Given the description of an element on the screen output the (x, y) to click on. 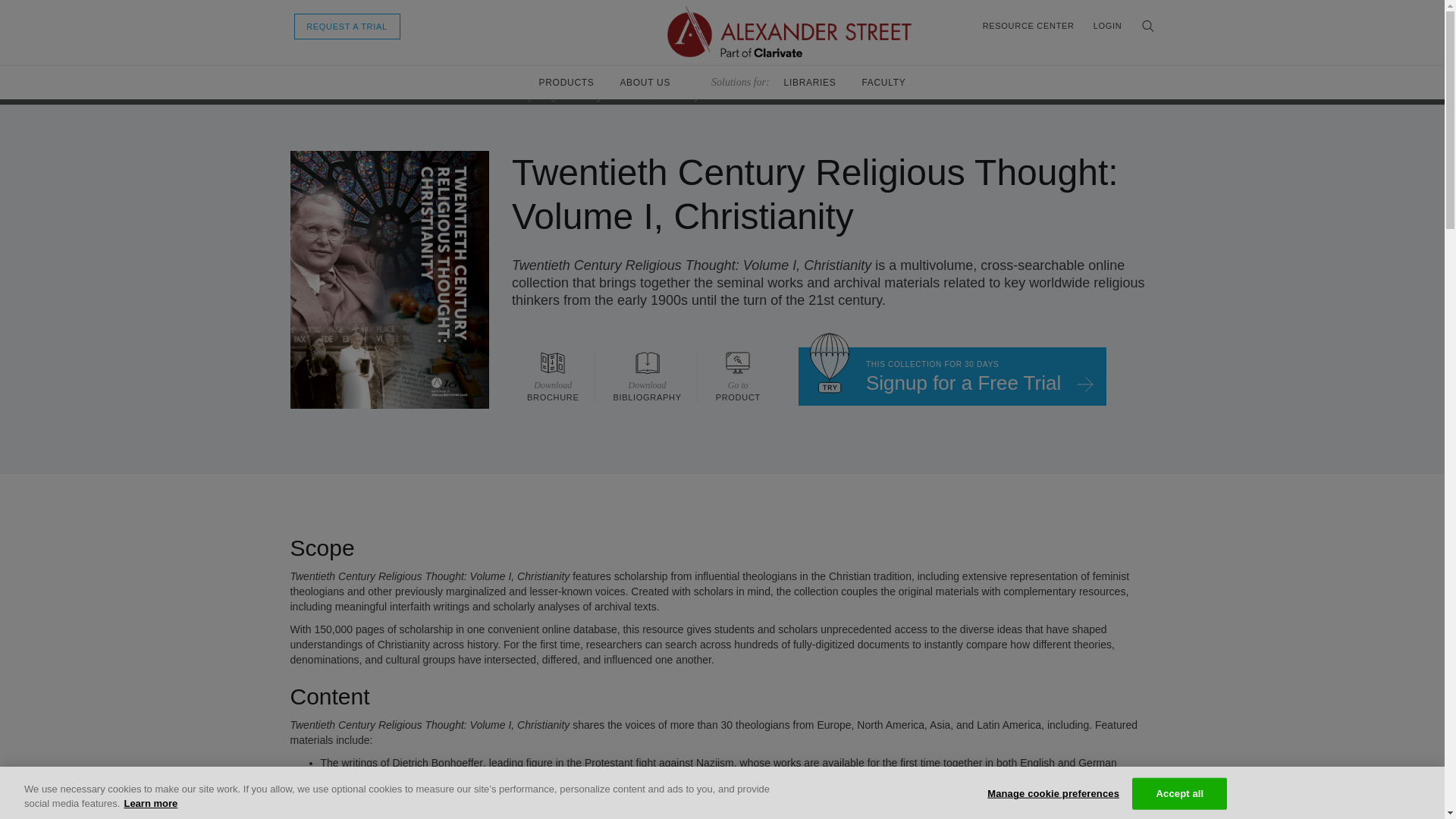
RESOURCE CENTER (951, 376)
REQUEST A TRIAL (553, 377)
LOGIN (1028, 25)
LIBRARIES (347, 26)
Home (1107, 25)
FACULTY (810, 82)
ABOUT US (301, 95)
Products (883, 82)
PRODUCTS (644, 82)
Collections (738, 377)
